Given the description of an element on the screen output the (x, y) to click on. 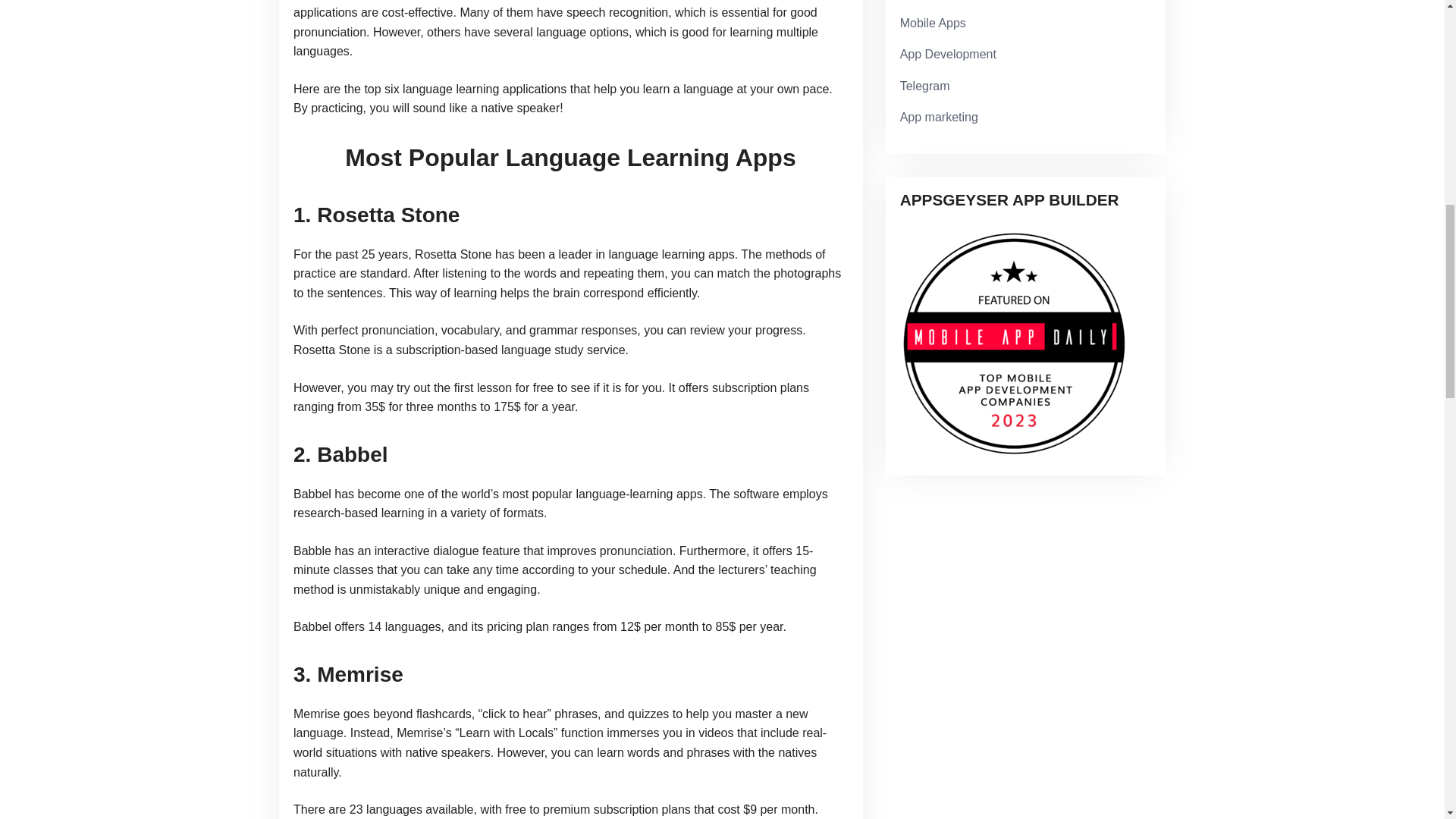
Mobile Apps (932, 22)
App marketing (938, 116)
App Development (947, 53)
Telegram (924, 85)
